Given the description of an element on the screen output the (x, y) to click on. 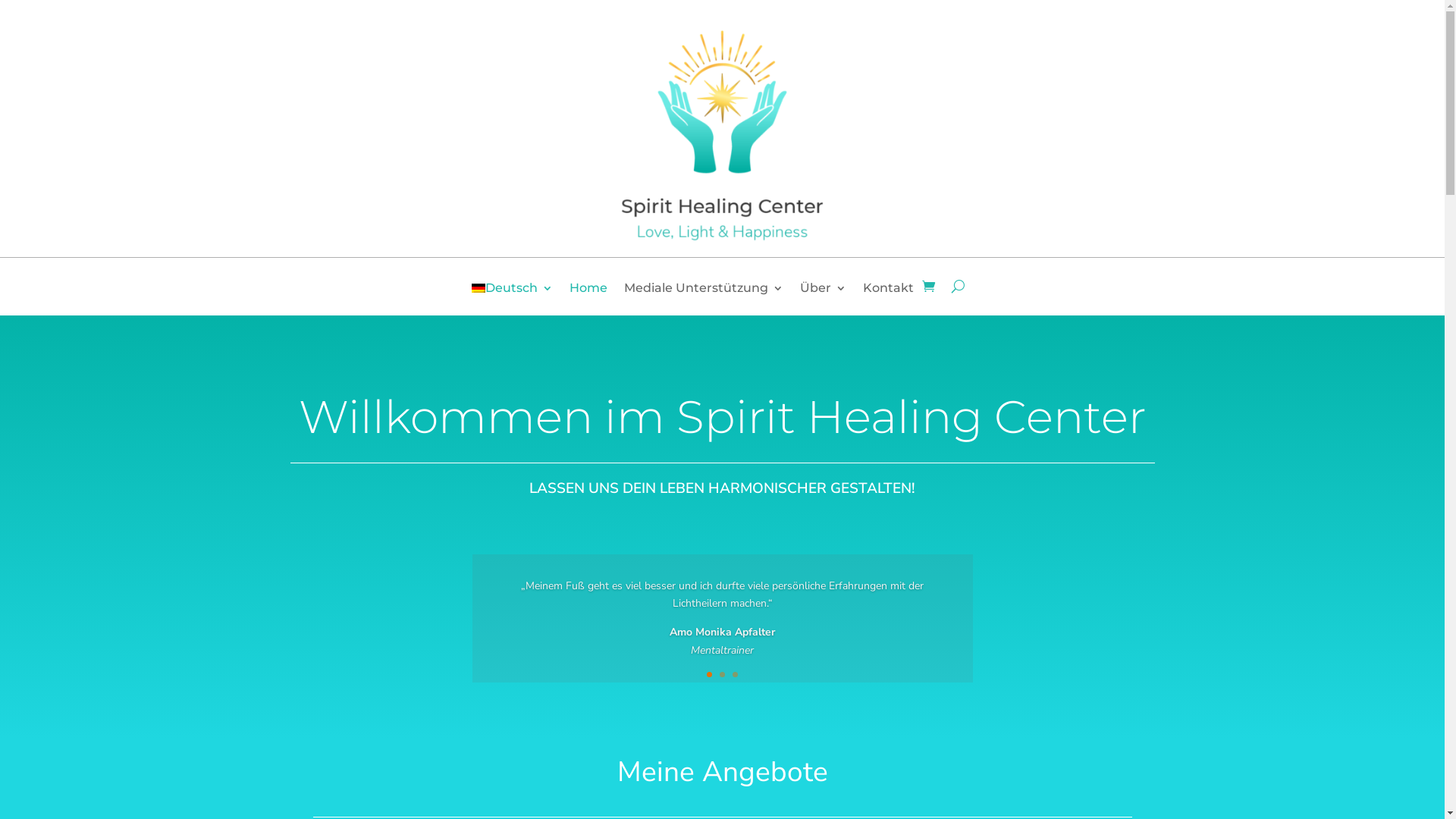
Kontakt Element type: text (887, 298)
Home Element type: text (588, 298)
3 Element type: text (734, 674)
Deutsch Element type: text (511, 298)
2 Element type: text (721, 674)
1 Element type: text (709, 674)
